Given the description of an element on the screen output the (x, y) to click on. 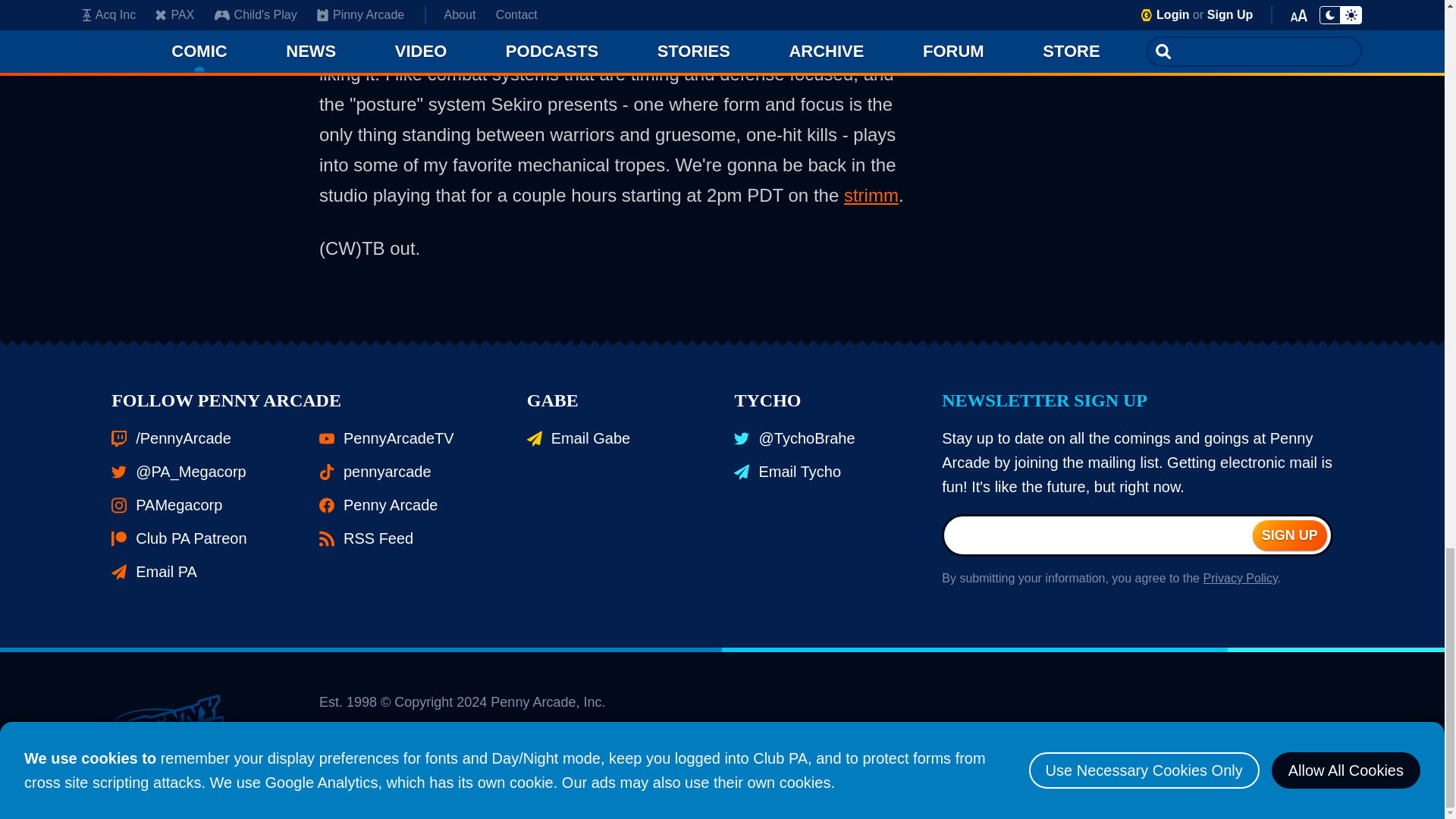
Sign Up (1289, 535)
